Given the description of an element on the screen output the (x, y) to click on. 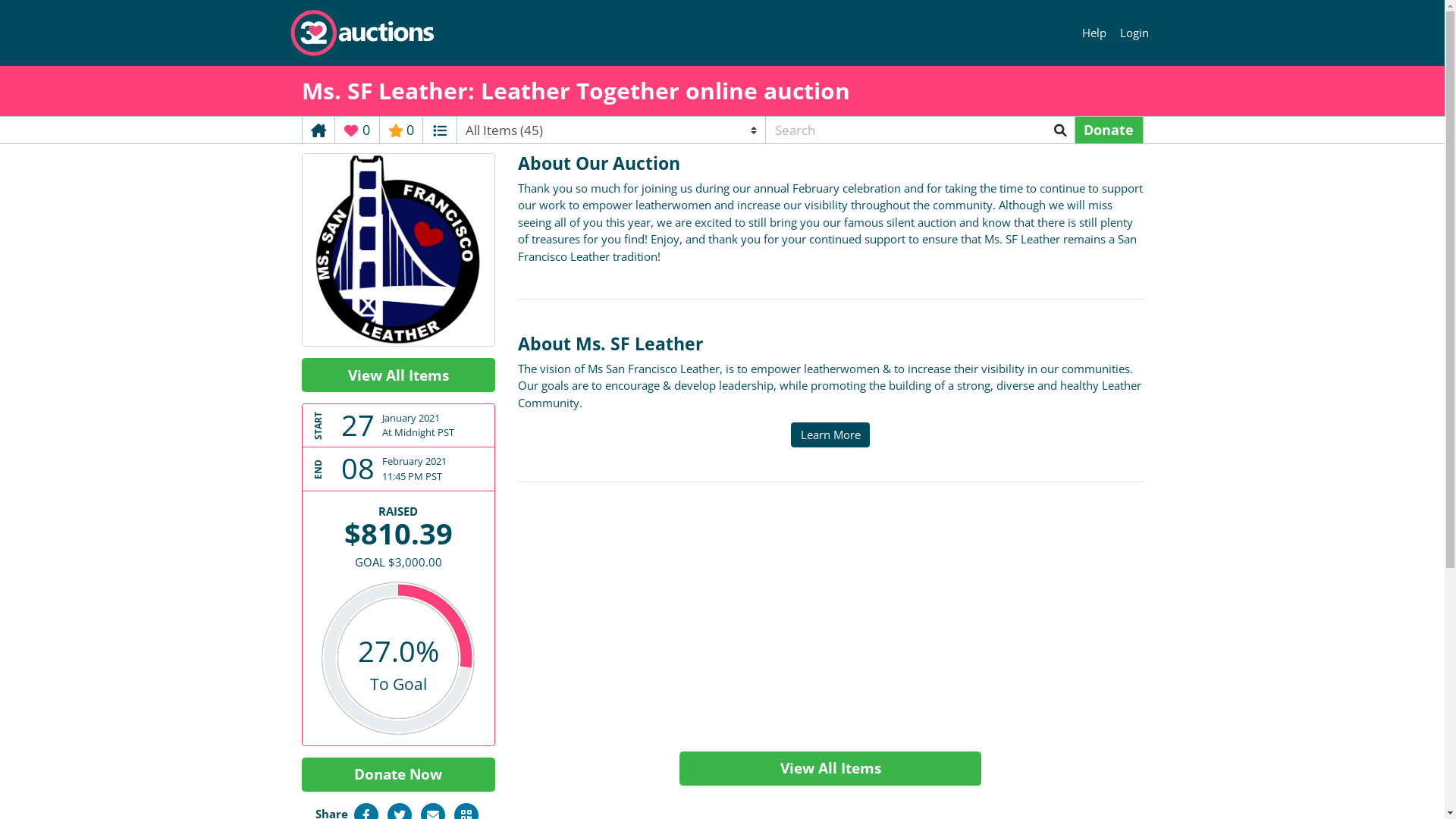
Donate Now Element type: text (398, 774)
Help Element type: text (1094, 32)
Search Element type: text (1059, 129)
Login Element type: text (1134, 32)
Donate Element type: text (1108, 129)
Learn More Element type: text (829, 434)
0 Element type: text (357, 129)
Advertisement Element type: hover (829, 622)
View All Items Element type: text (398, 374)
View All Items Element type: text (830, 768)
Auction Home Element type: hover (317, 129)
Item List Element type: hover (439, 129)
0 Element type: text (400, 129)
